Given the description of an element on the screen output the (x, y) to click on. 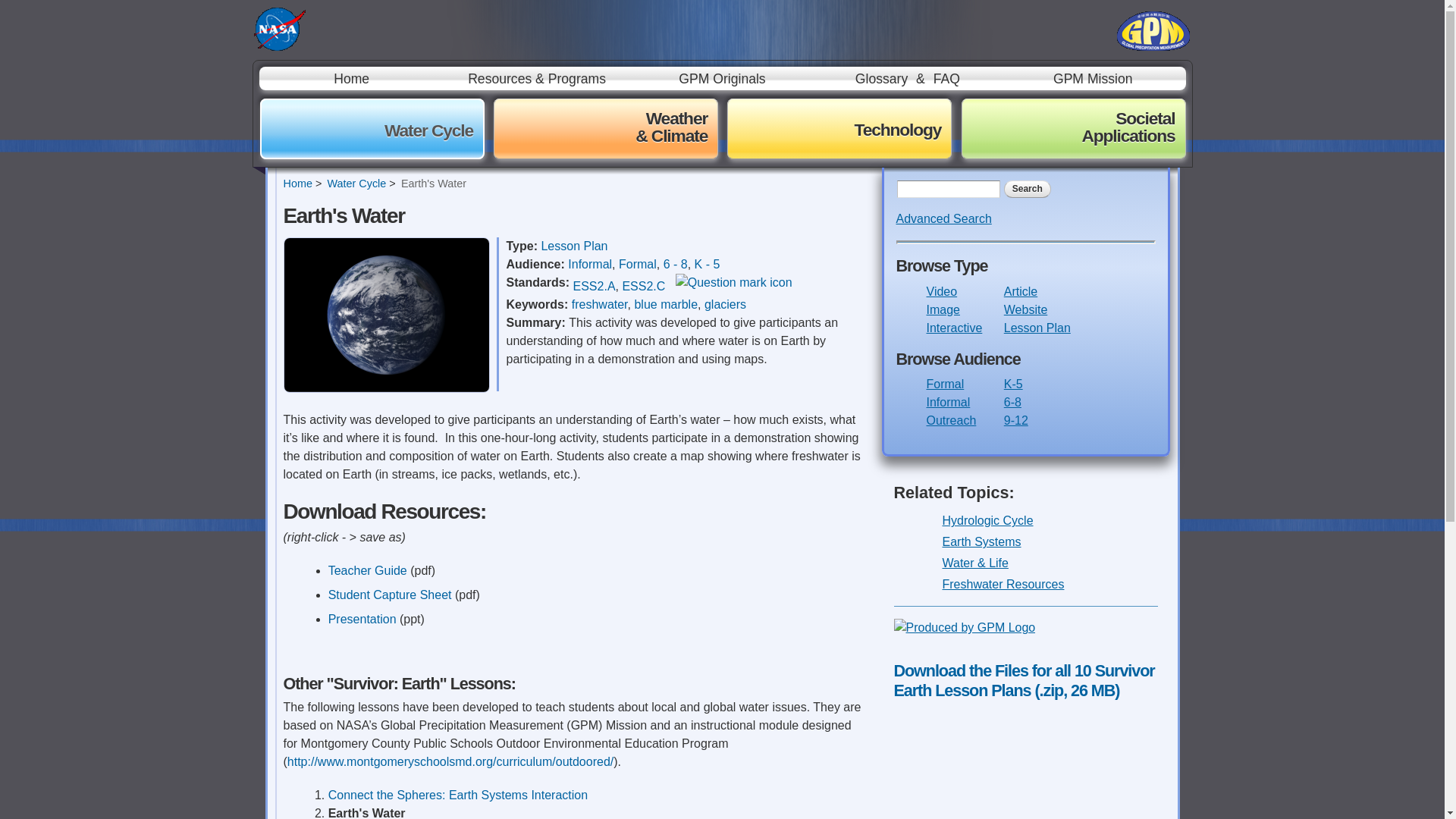
Skip to main content (685, 1)
GPM Originals (722, 78)
Learn about the water cycle (355, 183)
Water Cycle (355, 183)
Learn about the National Standards (733, 284)
Technology (839, 128)
6 - 8 (675, 264)
FAQ (945, 78)
Glossary (881, 78)
Teacher Guide (369, 570)
